Given the description of an element on the screen output the (x, y) to click on. 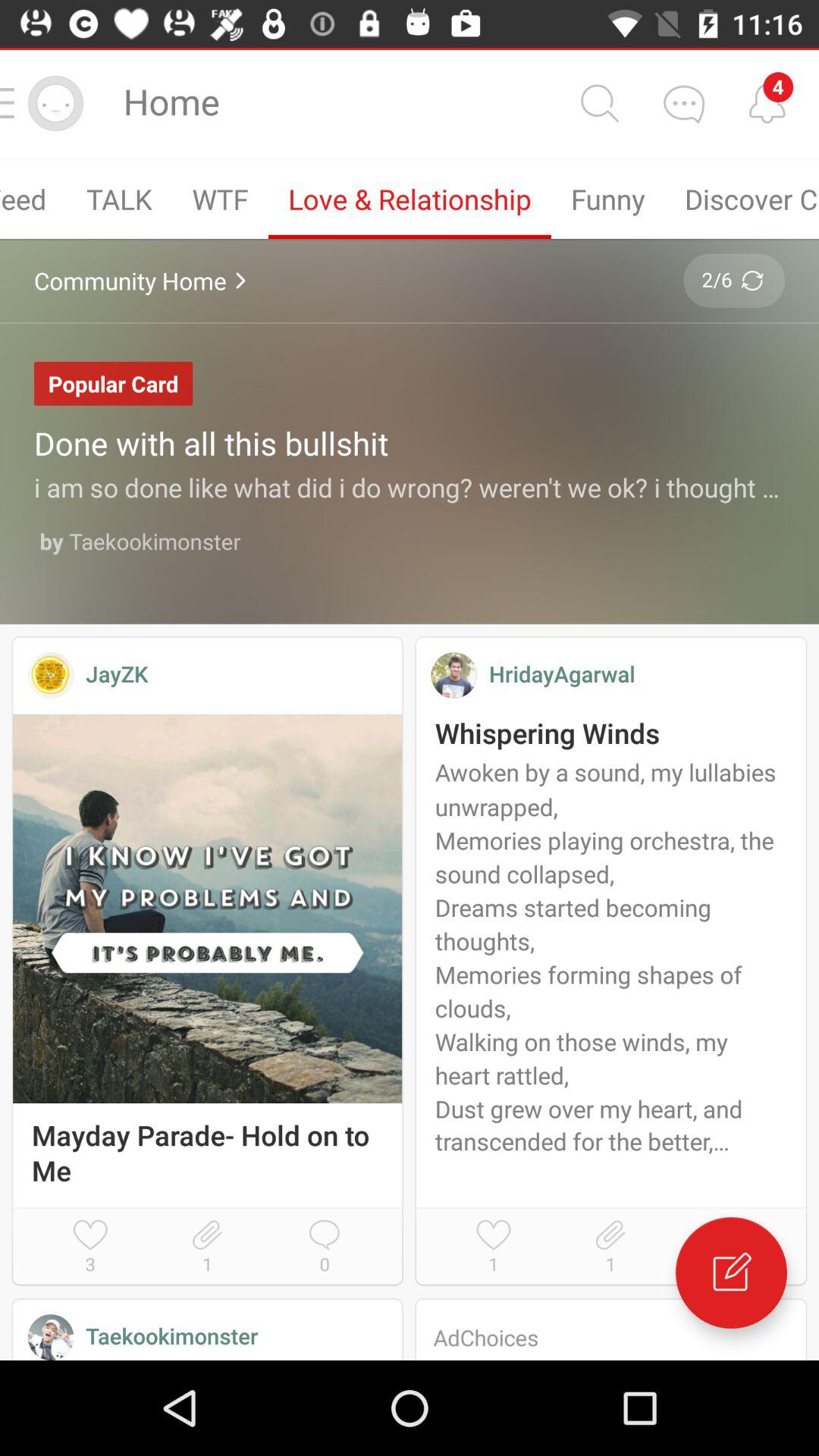
click the option to edit (731, 1272)
